Given the description of an element on the screen output the (x, y) to click on. 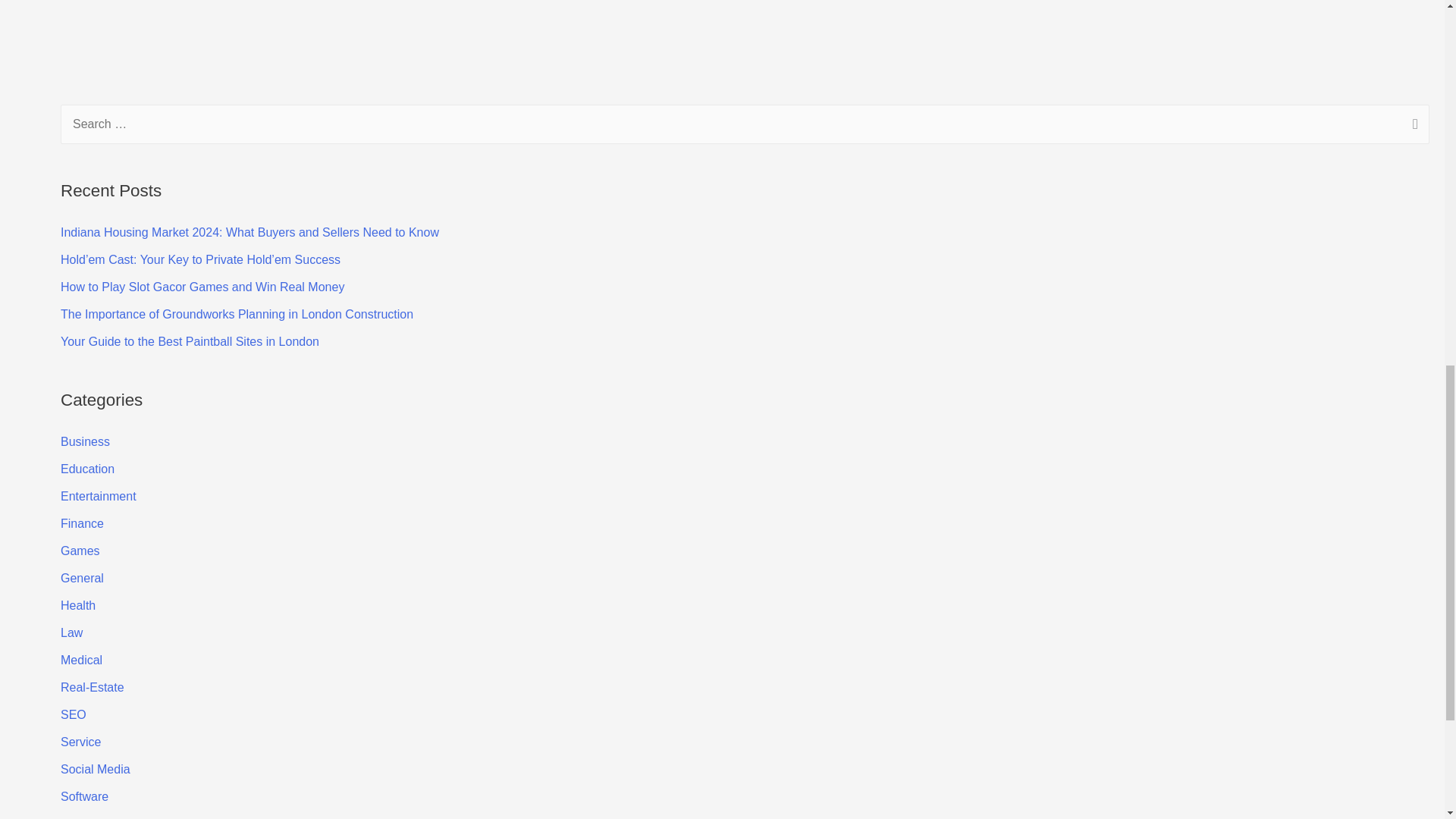
Education (88, 468)
How to Play Slot Gacor Games and Win Real Money (202, 286)
Games (80, 550)
Health (78, 604)
Business (85, 440)
Law (71, 632)
General (82, 577)
Software (84, 796)
Your Guide to the Best Paintball Sites in London (189, 341)
